Given the description of an element on the screen output the (x, y) to click on. 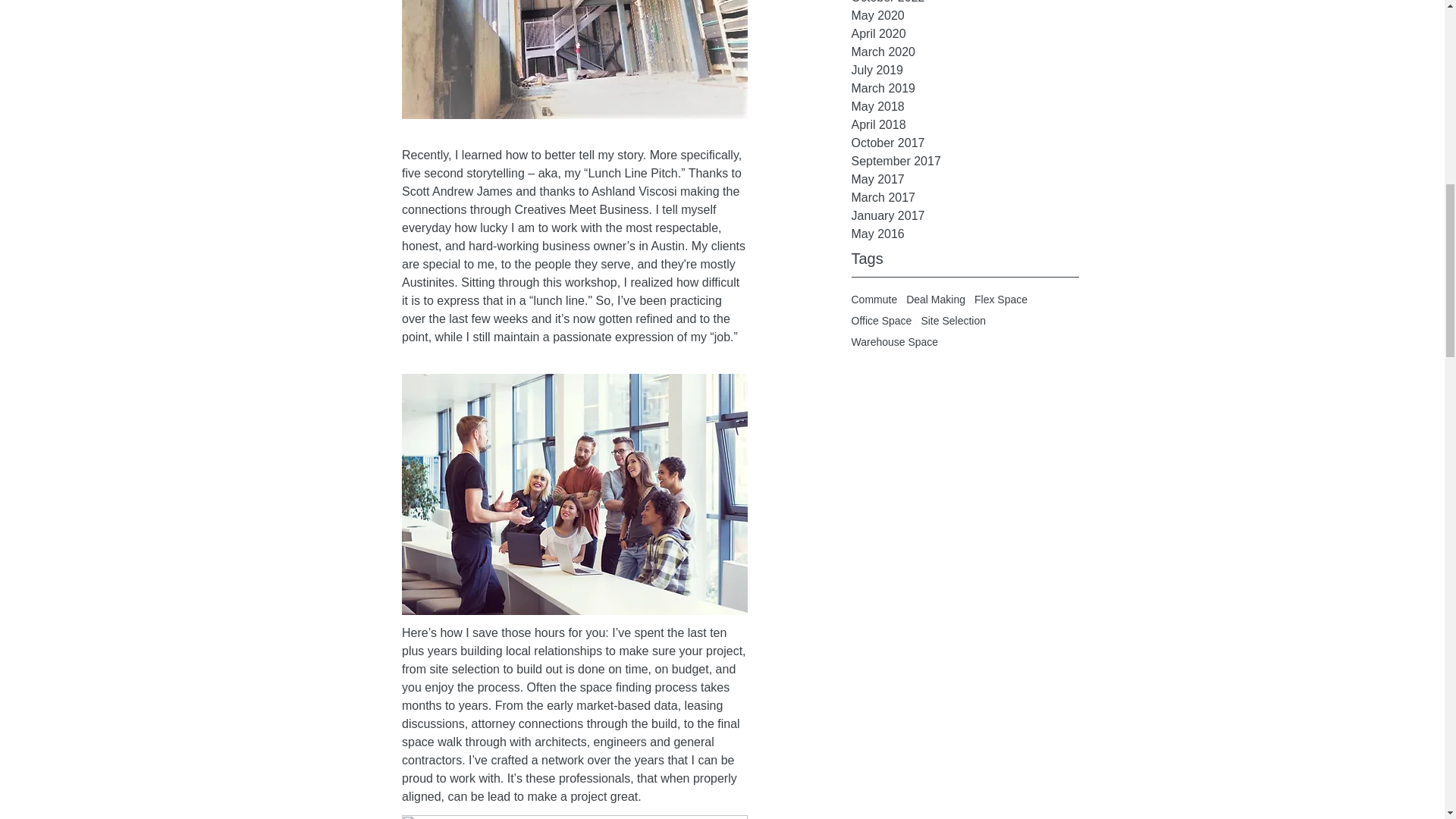
September 2017 (964, 161)
Creatives Meet Business (580, 209)
January 2017 (964, 216)
May 2016 (964, 234)
October 2017 (964, 143)
March 2020 (964, 52)
March 2019 (964, 88)
Office Space (880, 320)
July 2019 (964, 70)
May 2017 (964, 179)
May 2020 (964, 15)
April 2018 (964, 125)
May 2018 (964, 106)
Deal Making (935, 299)
Flex Space (1000, 299)
